Given the description of an element on the screen output the (x, y) to click on. 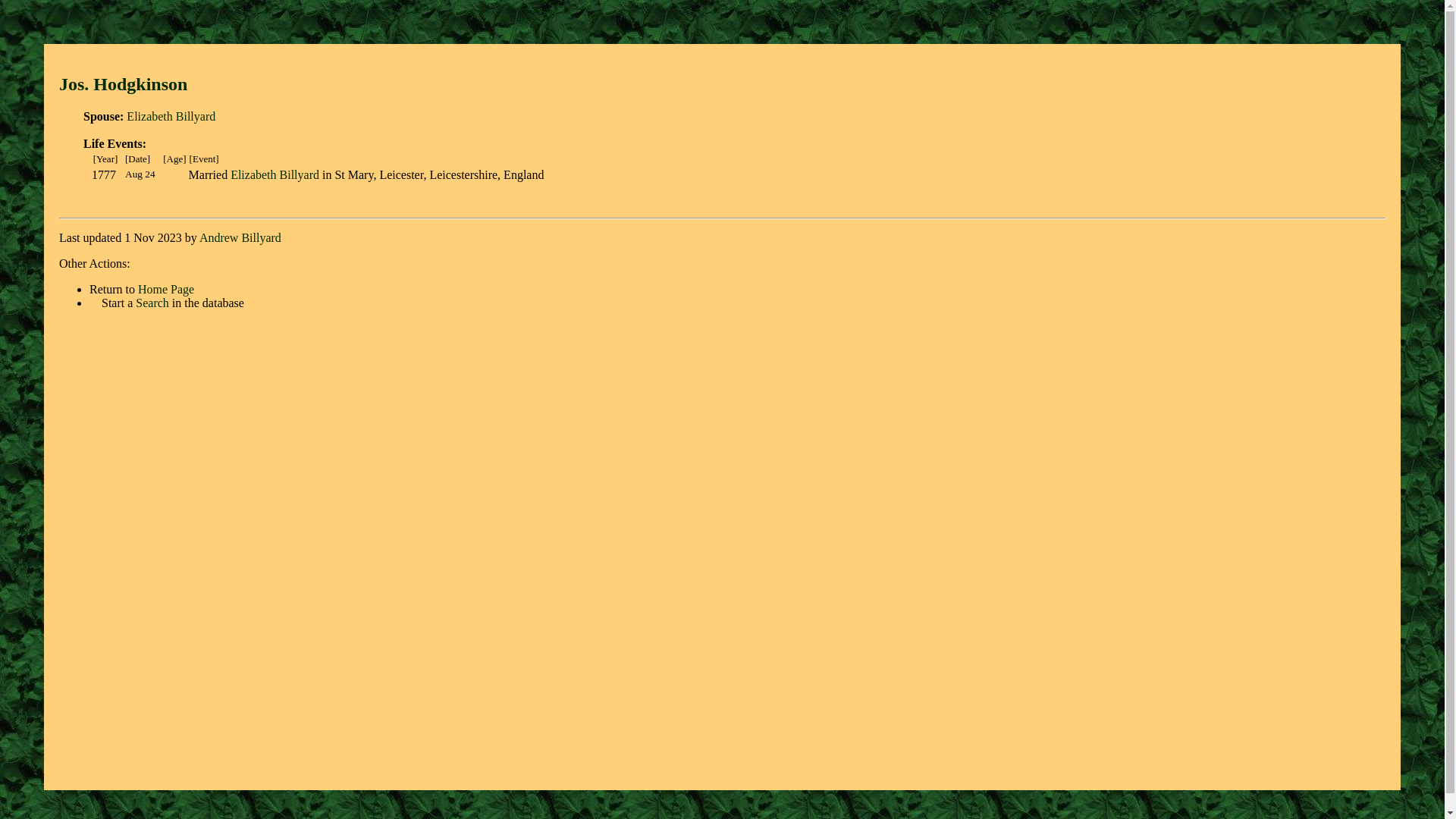
n Element type: text (182, 84)
Elizabeth Billyard Element type: text (170, 115)
Search Element type: text (152, 302)
Elizabeth Billyard Element type: text (274, 174)
Andrew Billyard Element type: text (240, 237)
Jos. Hodgkinso Element type: text (118, 84)
Home Page Element type: text (166, 288)
